Given the description of an element on the screen output the (x, y) to click on. 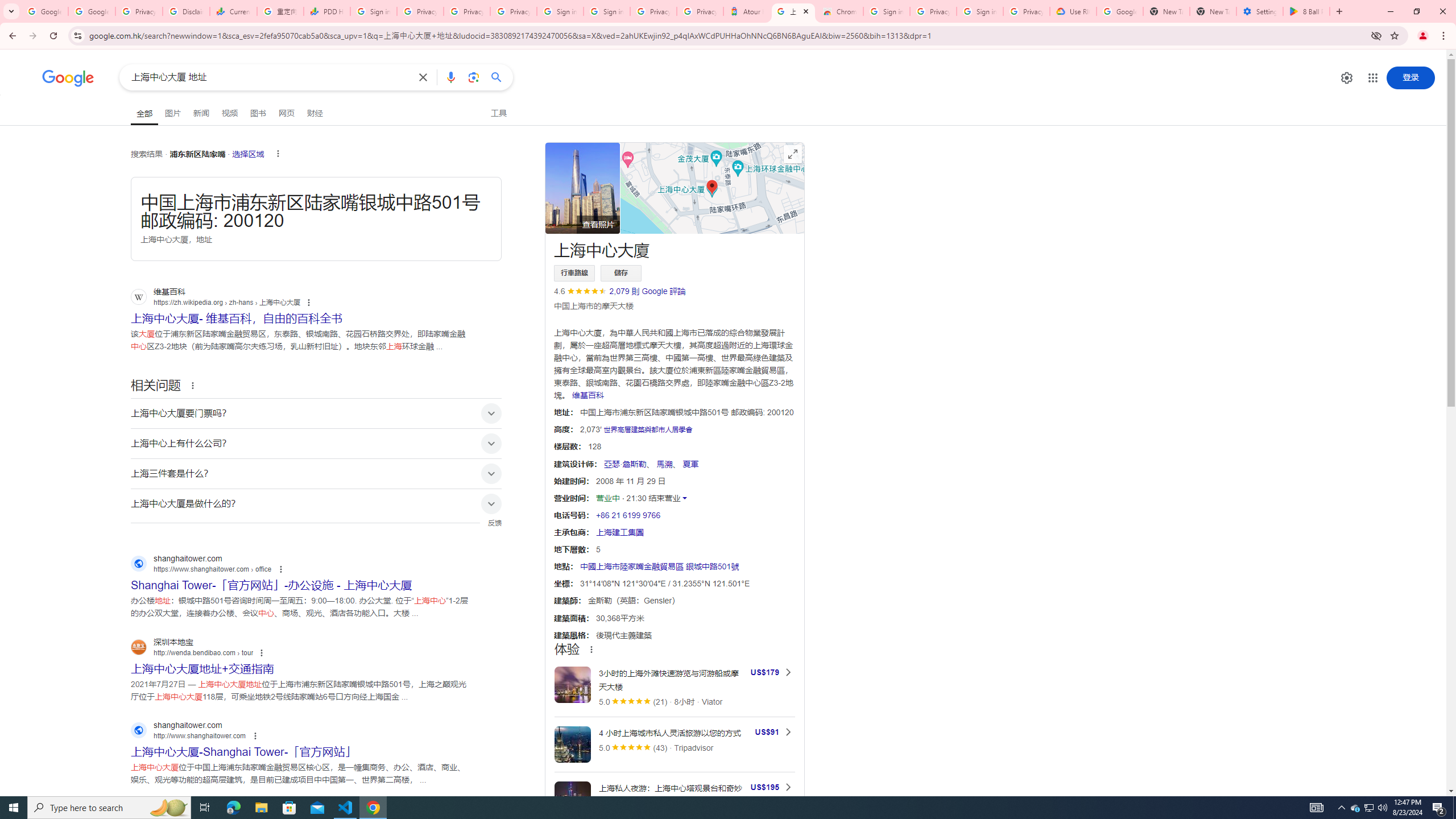
8 Ball Pool - Apps on Google Play (1306, 11)
